Given the description of an element on the screen output the (x, y) to click on. 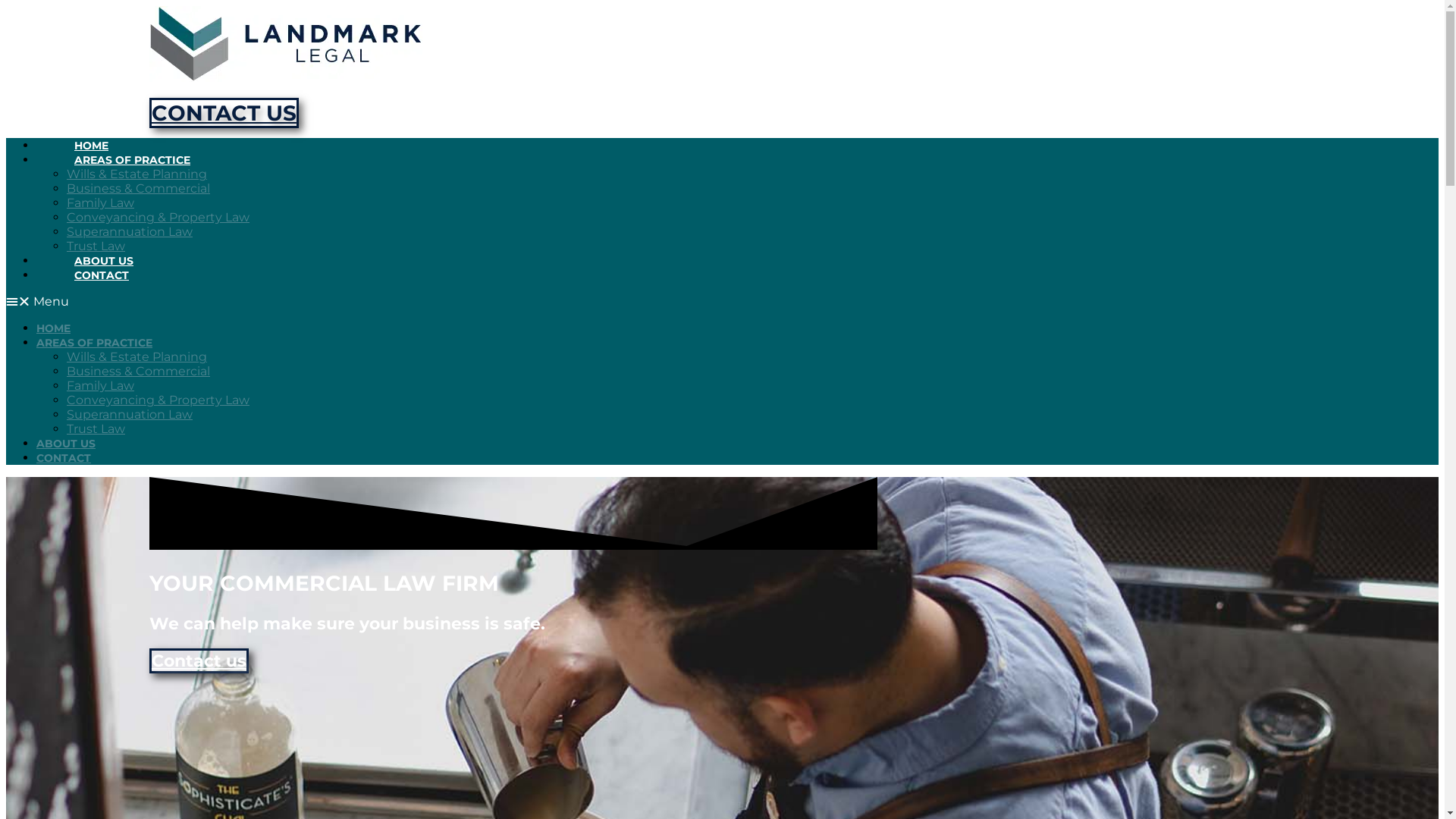
Family Law Element type: text (100, 202)
Wills & Estate Planning Element type: text (136, 356)
AREAS OF PRACTICE Element type: text (132, 159)
Trust Law Element type: text (95, 428)
Superannuation Law Element type: text (129, 414)
Contact us Element type: text (198, 660)
Conveyancing & Property Law Element type: text (157, 217)
Superannuation Law Element type: text (129, 231)
Wills & Estate Planning Element type: text (136, 173)
CONTACT Element type: text (63, 457)
CONTACT Element type: text (101, 275)
ABOUT US Element type: text (103, 260)
Family Law Element type: text (100, 385)
Trust Law Element type: text (95, 245)
Skip to content Element type: text (5, 5)
Business & Commercial Element type: text (138, 188)
AREAS OF PRACTICE Element type: text (94, 342)
Conveyancing & Property Law Element type: text (157, 399)
Business & Commercial Element type: text (138, 371)
ABOUT US Element type: text (65, 443)
HOME Element type: text (91, 145)
HOME Element type: text (53, 328)
CONTACT US Element type: text (223, 112)
